Given the description of an element on the screen output the (x, y) to click on. 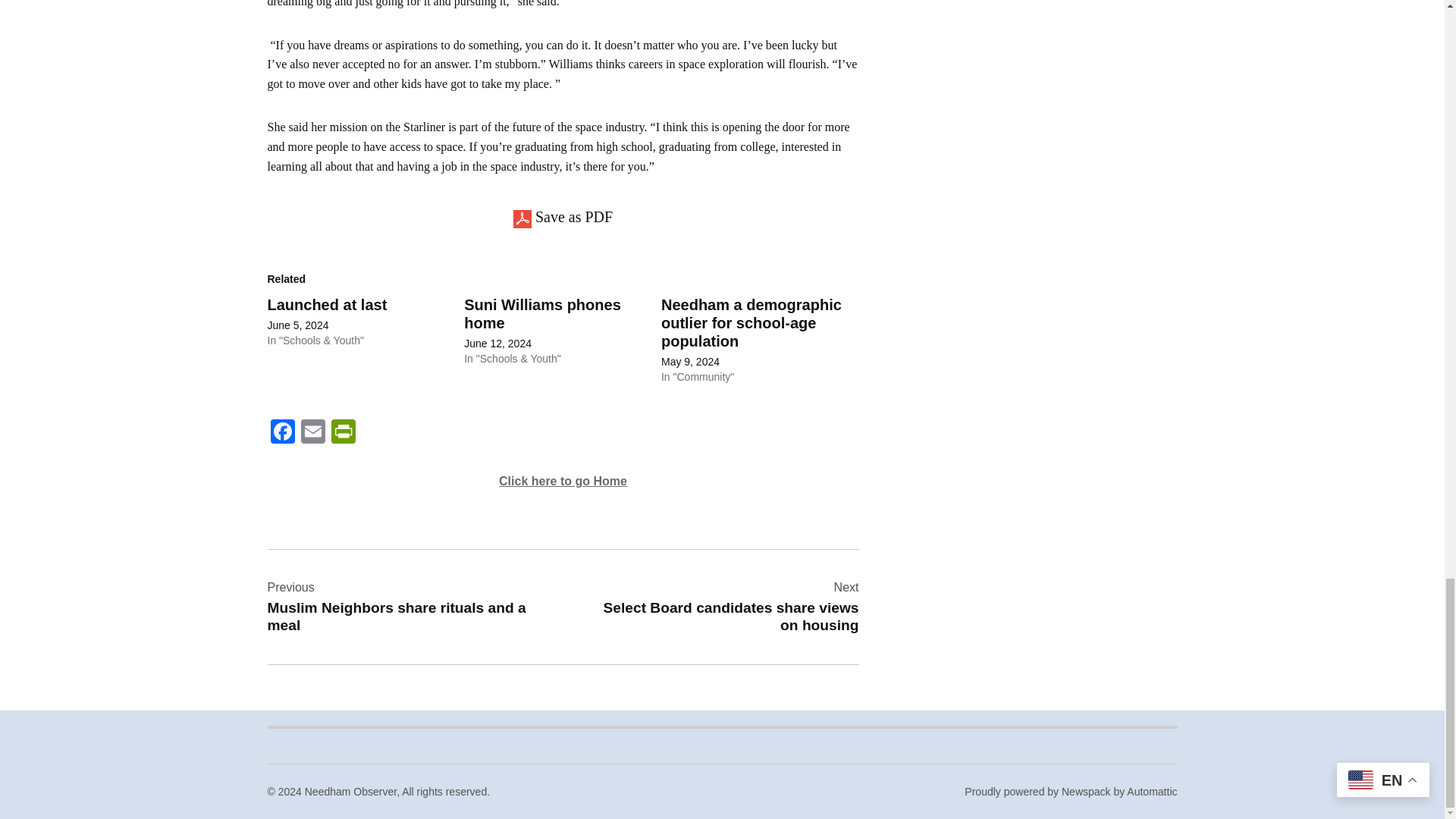
Launched at last (326, 304)
Needham a demographic outlier for school-age population (751, 322)
Facebook (281, 433)
Email (312, 433)
PrintFriendly (342, 433)
Suni Williams phones home (542, 313)
